Given the description of an element on the screen output the (x, y) to click on. 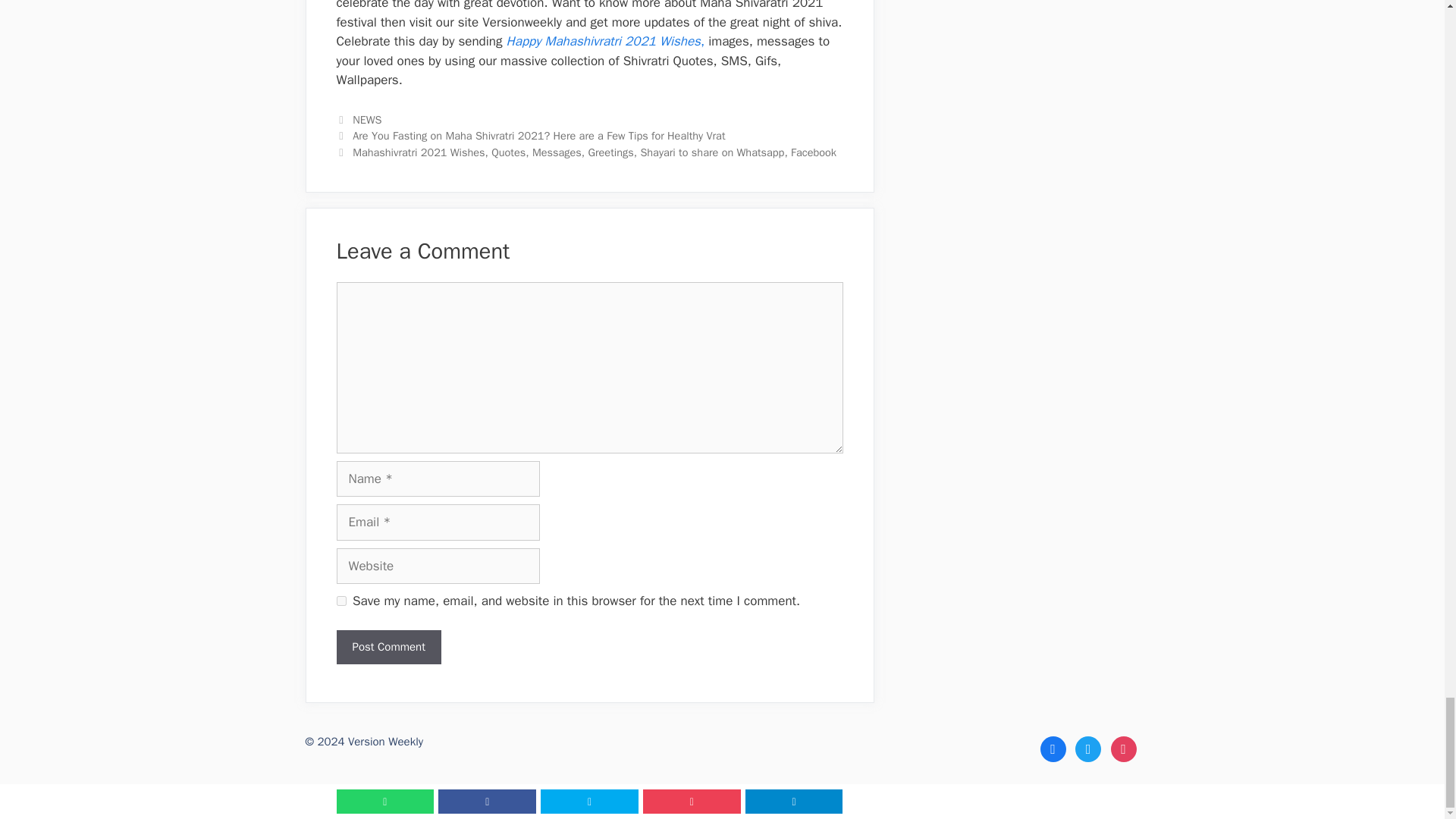
Facebook (1053, 747)
yes (341, 601)
Instagram (1122, 747)
Post Comment (388, 646)
Twitter (1087, 747)
